Given the description of an element on the screen output the (x, y) to click on. 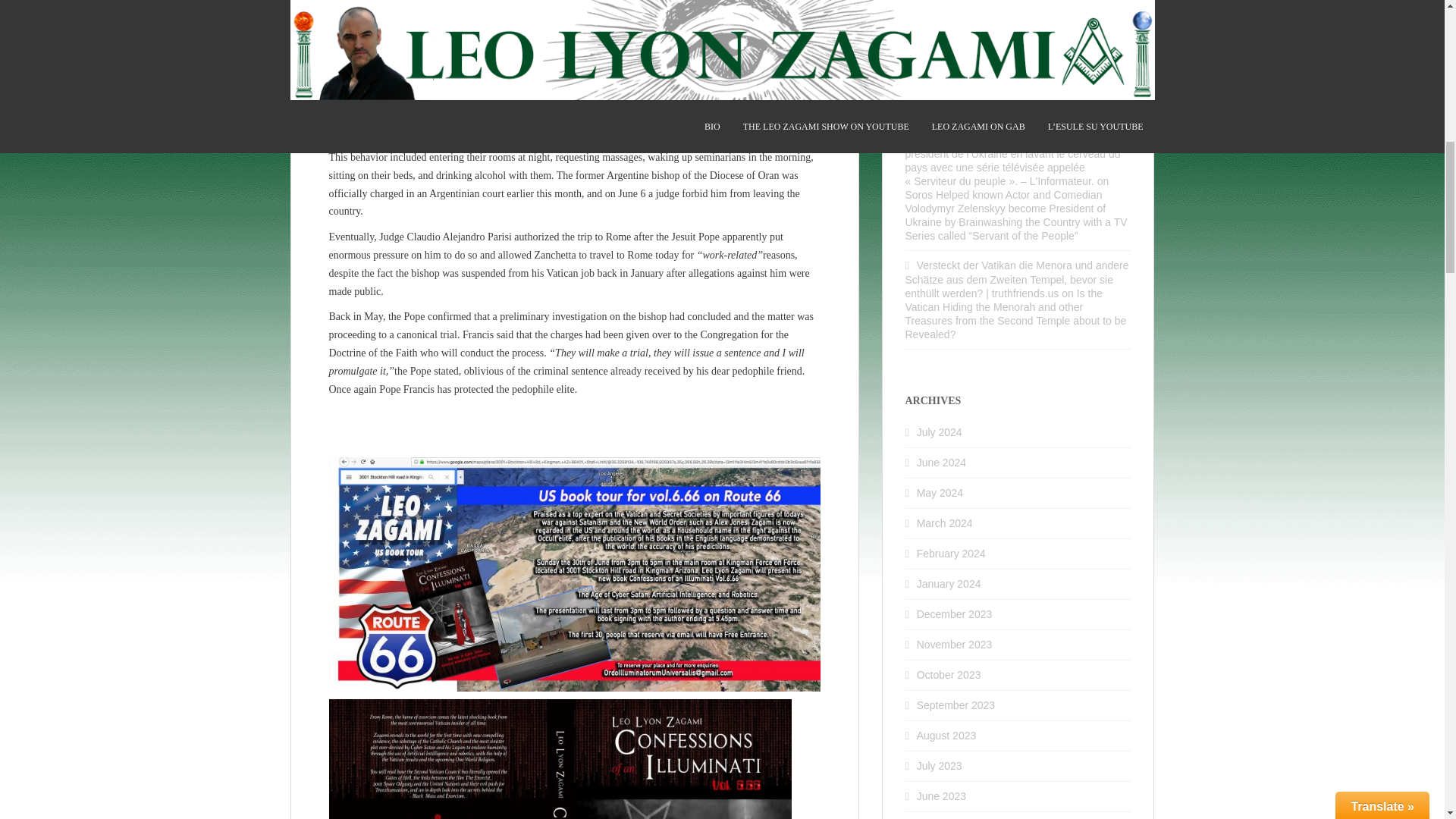
February 2024 (951, 553)
May 2024 (939, 492)
June 2024 (941, 462)
January 2024 (949, 583)
July 2024 (939, 431)
March 2024 (944, 522)
December 2023 (954, 613)
